Given the description of an element on the screen output the (x, y) to click on. 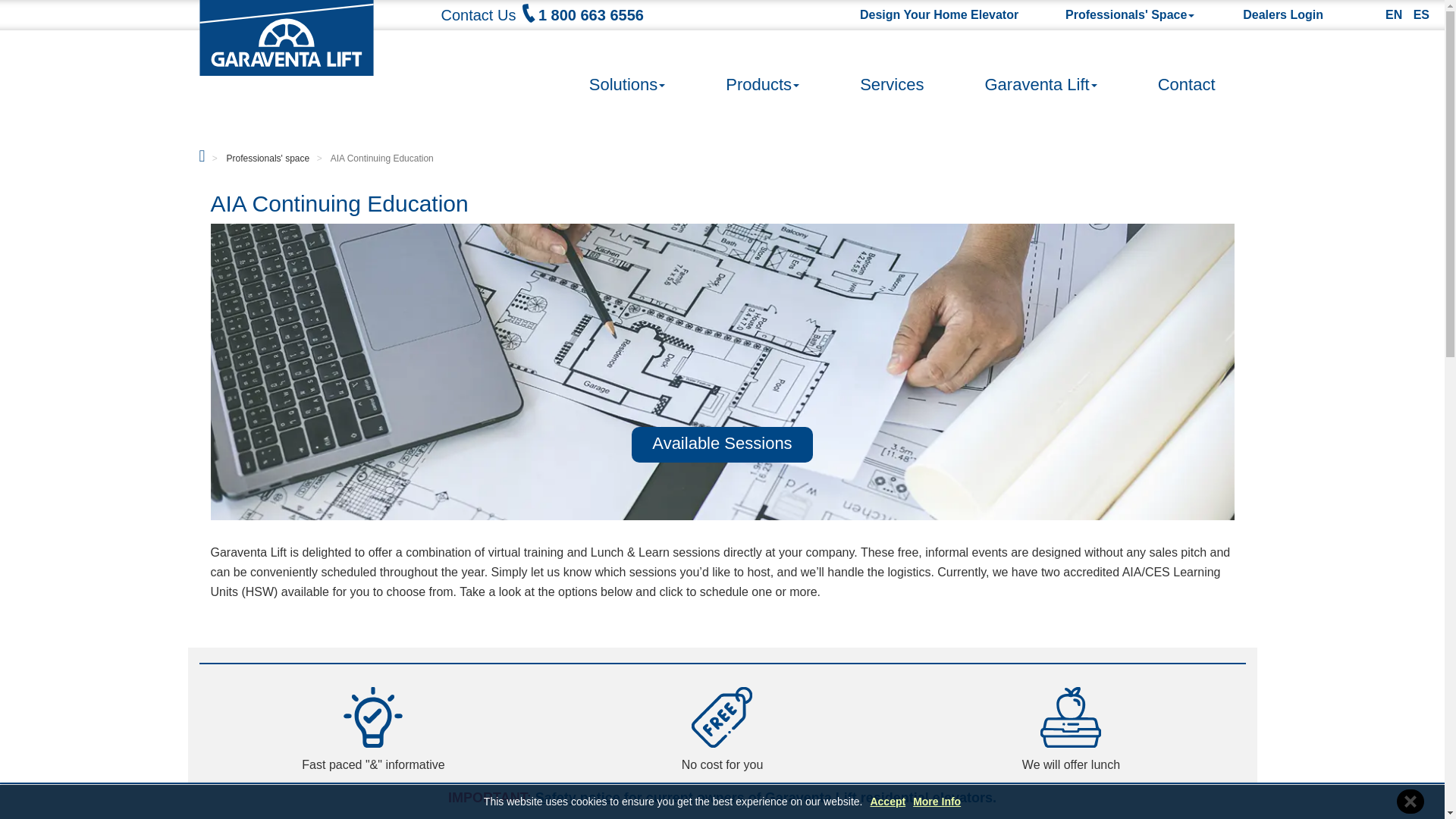
EN (1397, 14)
Solutions (627, 68)
1 800 663 6556 (581, 14)
Design Your Home Elevator (938, 14)
Accept (887, 801)
Garaventa Lift (1040, 68)
More Info (936, 801)
Products (762, 68)
ES (1425, 14)
Contact Us (478, 14)
